Given the description of an element on the screen output the (x, y) to click on. 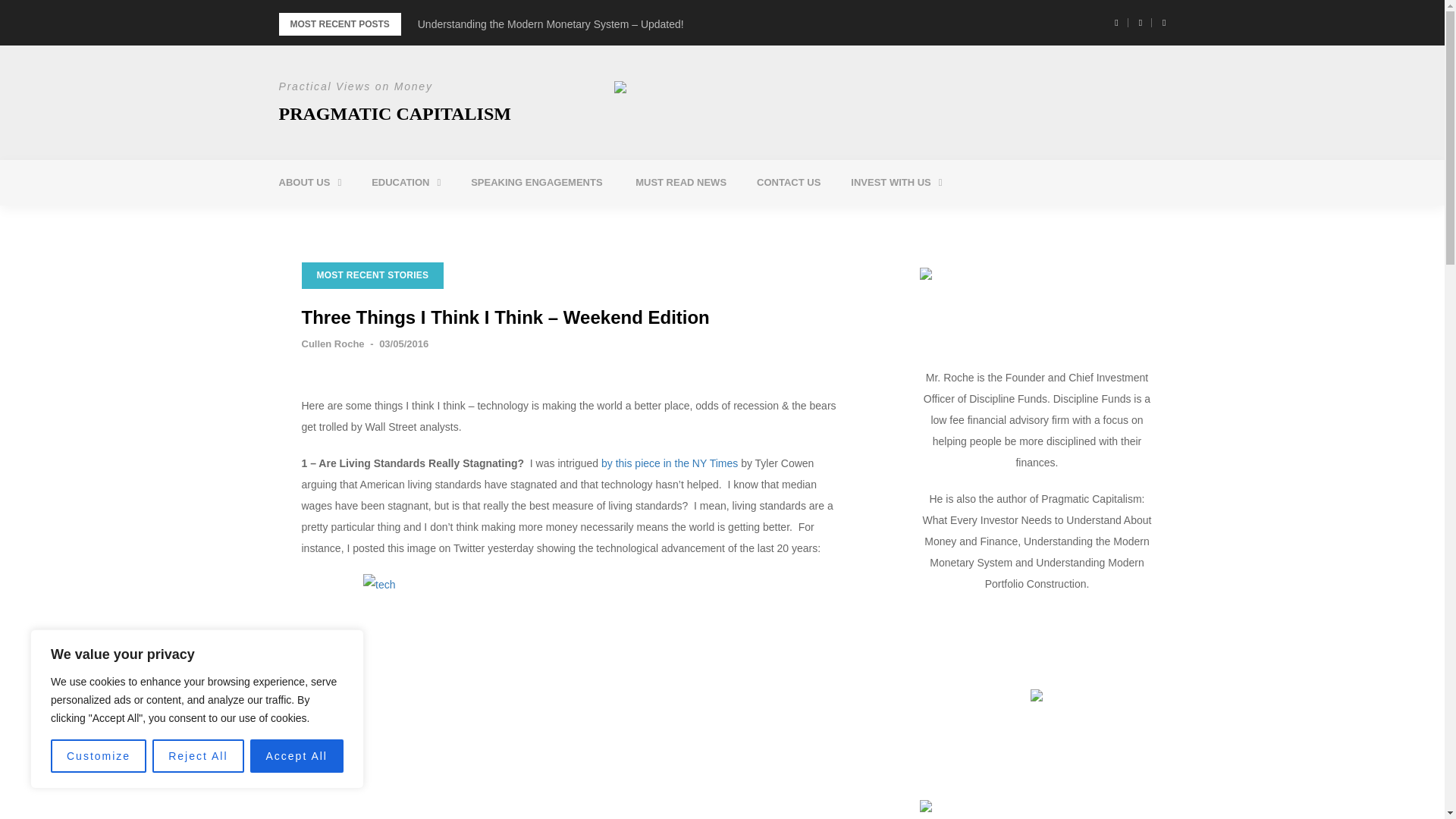
About Us (309, 182)
Meet Cullen Roche! (365, 220)
Customize (98, 756)
Understanding Money (458, 220)
PRAGMATIC CAPITALISM (395, 113)
EDUCATION (405, 182)
Meet Cullen Roche! (365, 220)
Accept All (296, 756)
Reject All (197, 756)
ABOUT US (309, 182)
